Given the description of an element on the screen output the (x, y) to click on. 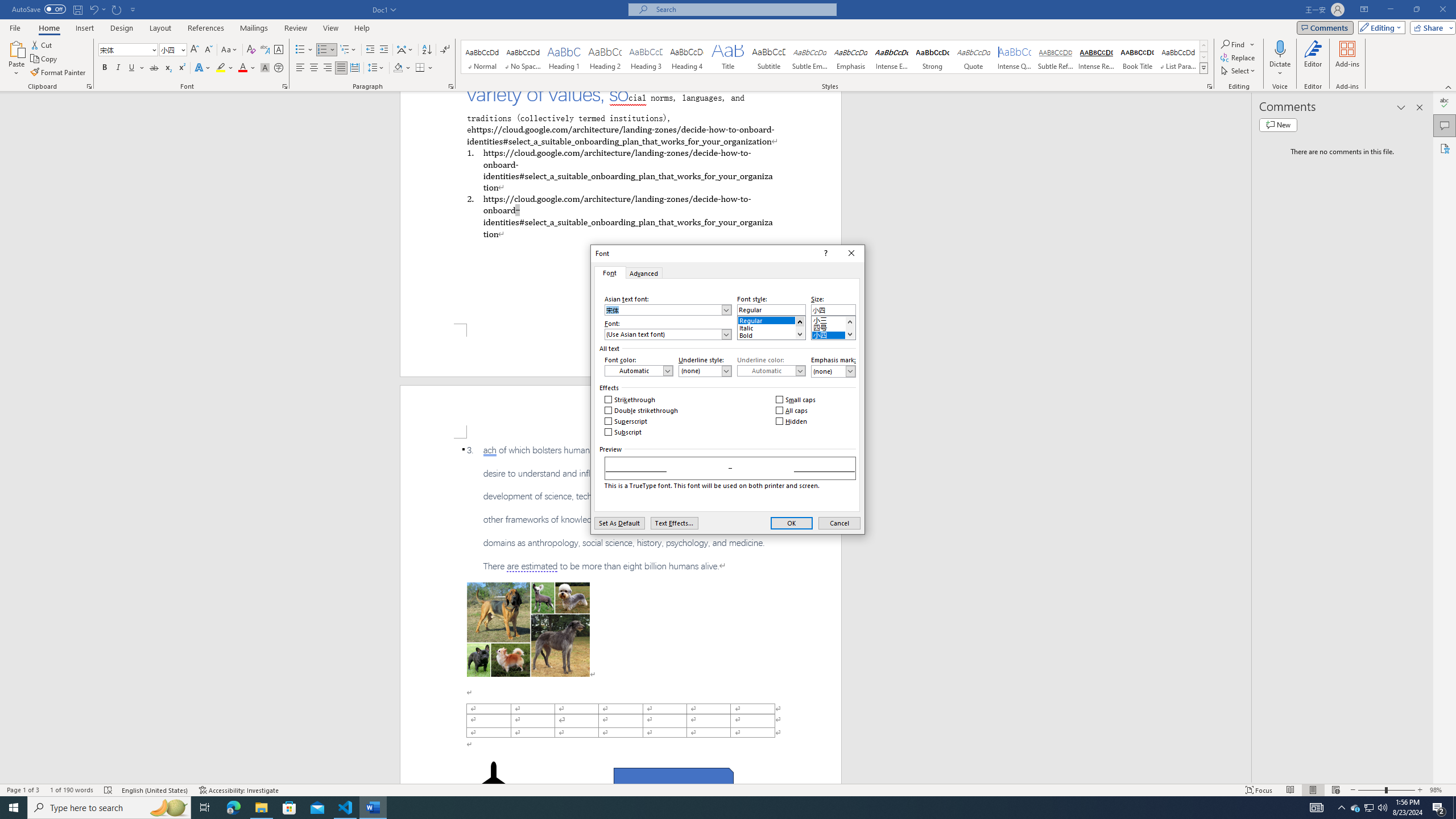
Quote (973, 56)
Justify (340, 67)
Text Effects and Typography (202, 67)
Sort... (426, 49)
Set As Default (619, 522)
Font Color (246, 67)
Increase Indent (383, 49)
Heading 3 (646, 56)
Shading (402, 67)
New comment (1278, 124)
AutomationID: 1797 (849, 327)
